Given the description of an element on the screen output the (x, y) to click on. 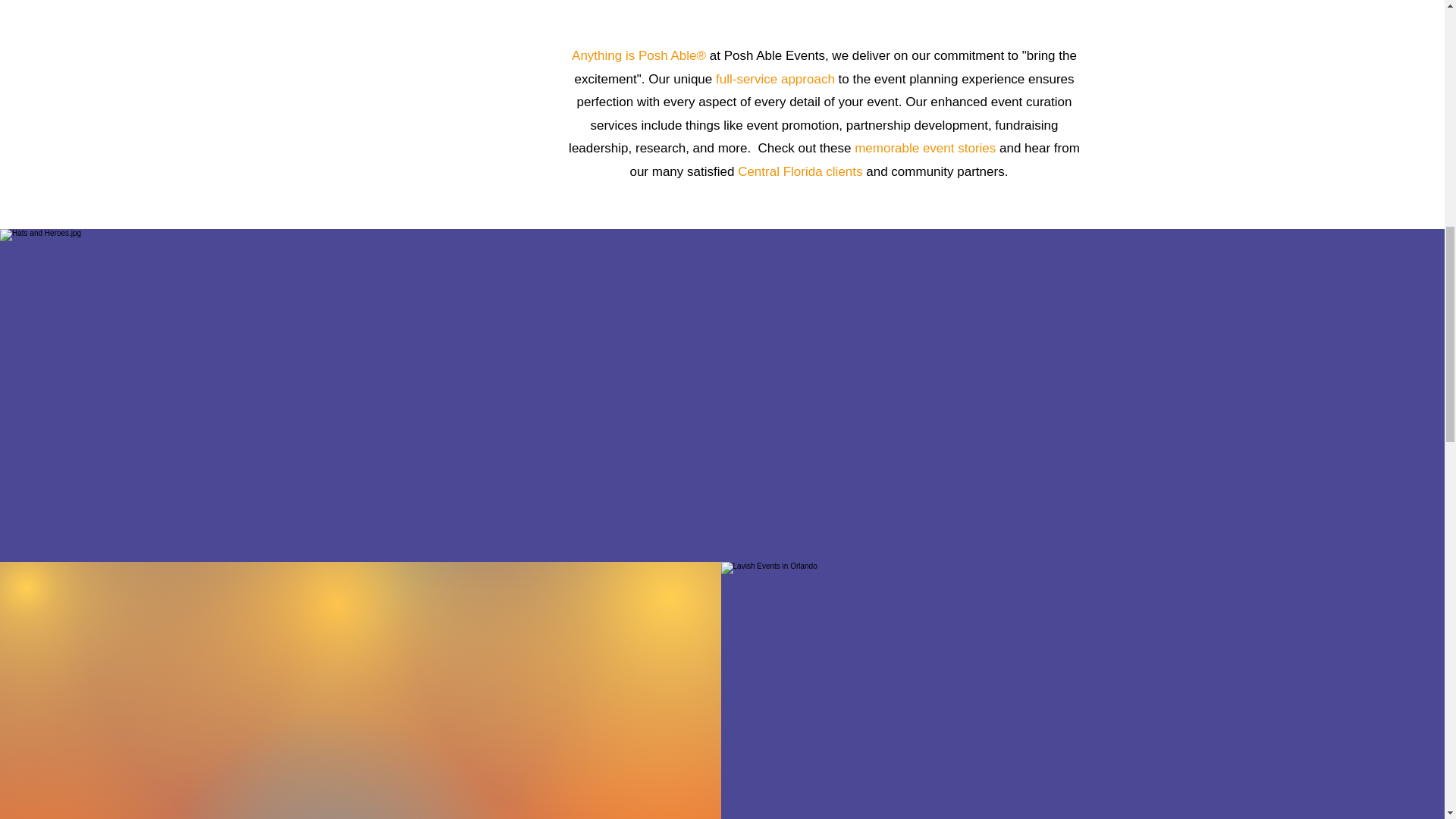
memorable event stories (924, 147)
Central Florida clients (799, 171)
